Given the description of an element on the screen output the (x, y) to click on. 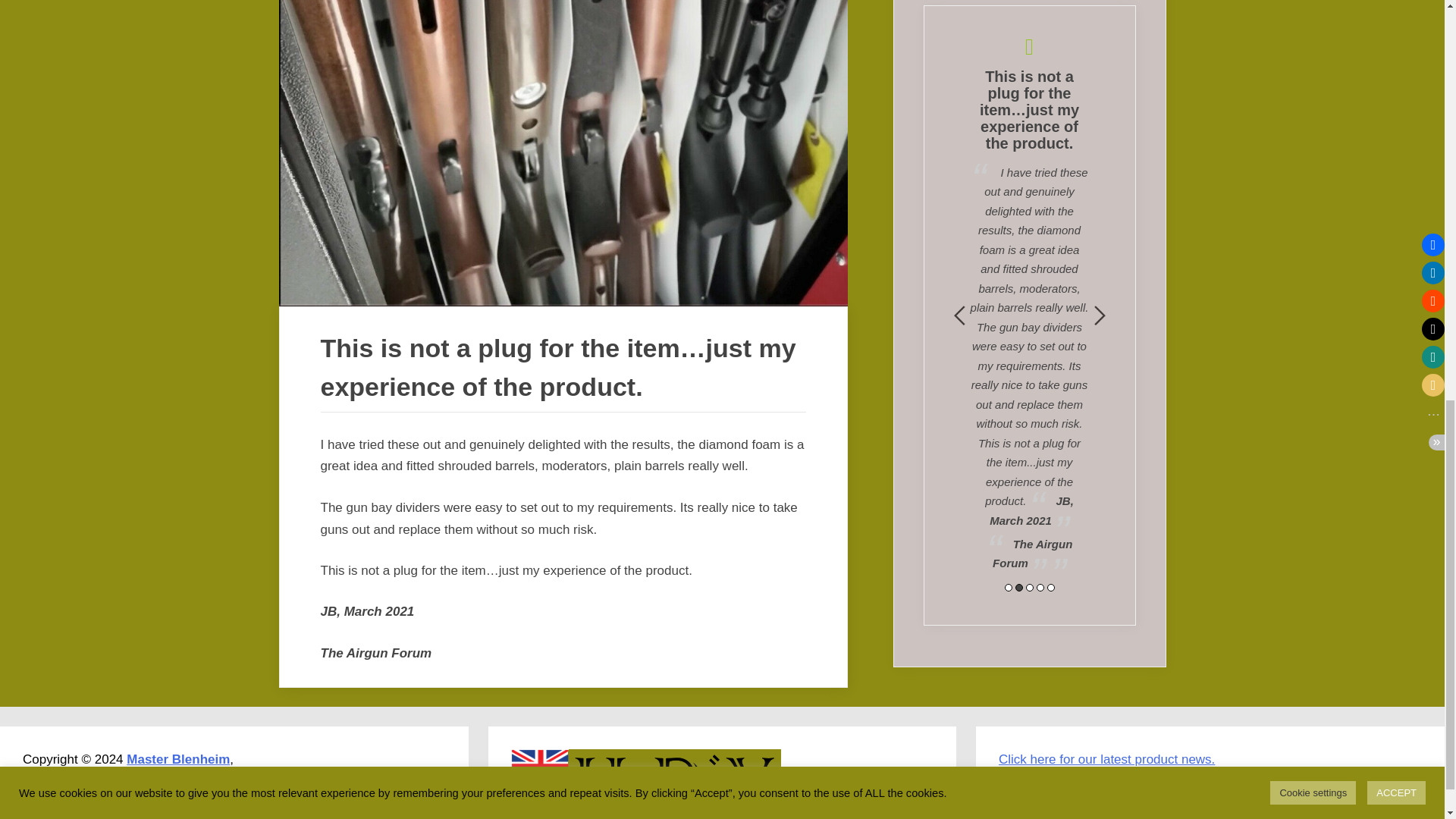
4 (1039, 587)
Contact Us (1106, 759)
3 (1028, 587)
1 (1007, 587)
2 (1018, 587)
